Given the description of an element on the screen output the (x, y) to click on. 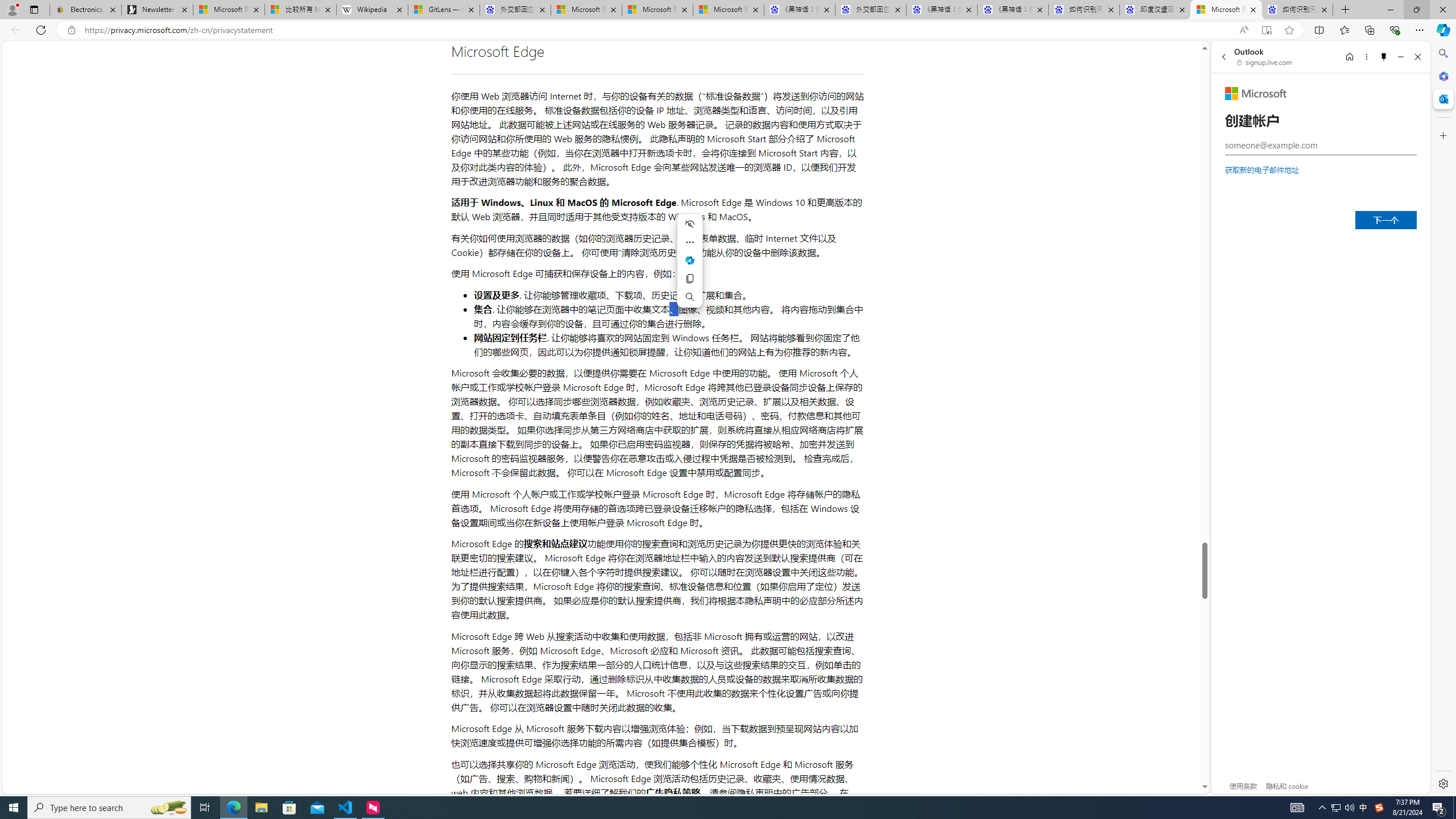
Mini menu on text selection (690, 266)
